Given the description of an element on the screen output the (x, y) to click on. 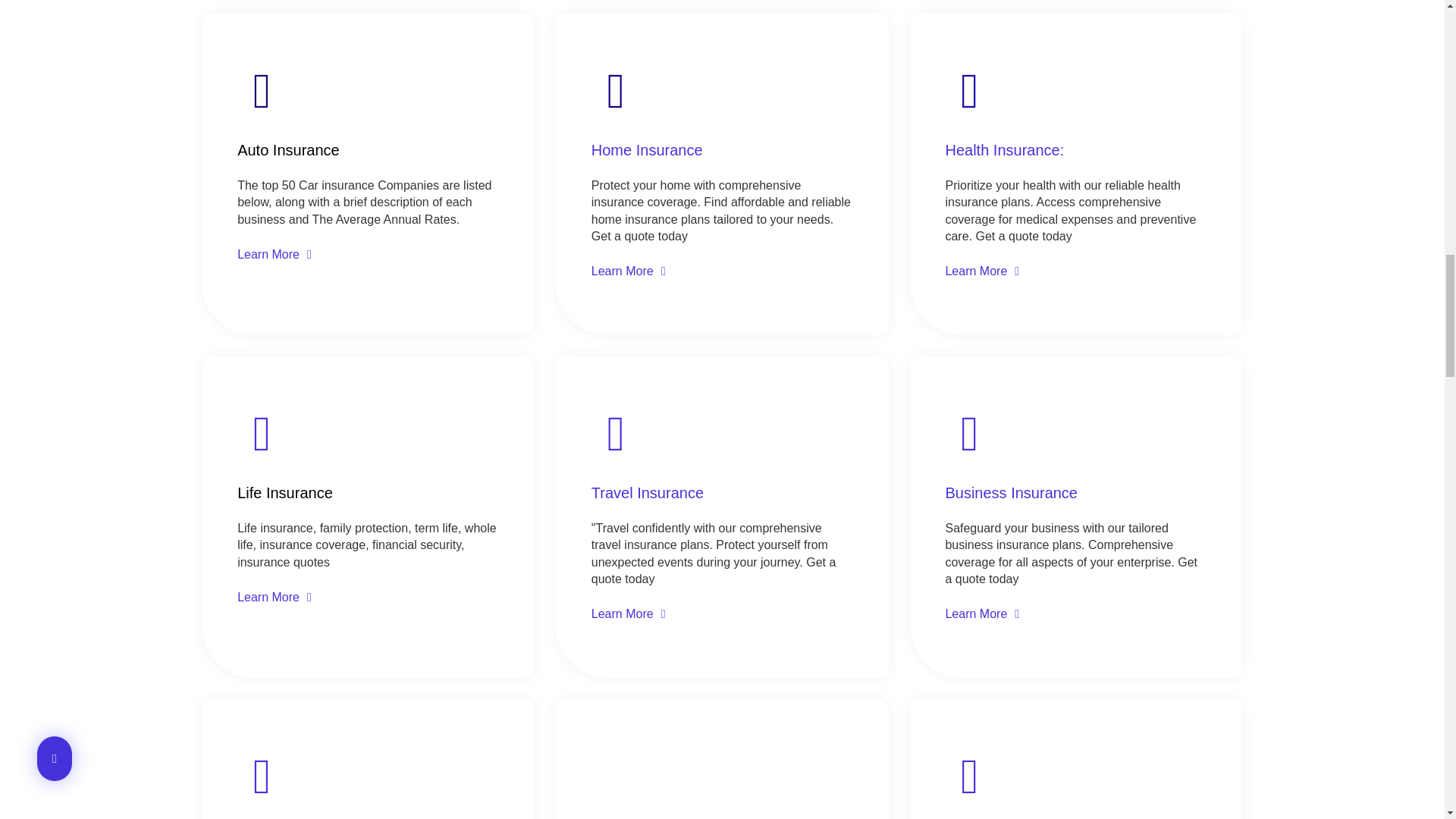
Learn More (628, 613)
Learn More (981, 270)
Life Insurance (285, 492)
Learn More (628, 270)
Learn More (274, 596)
Learn More (274, 254)
Learn More (981, 613)
Auto Insurance (288, 149)
